Given the description of an element on the screen output the (x, y) to click on. 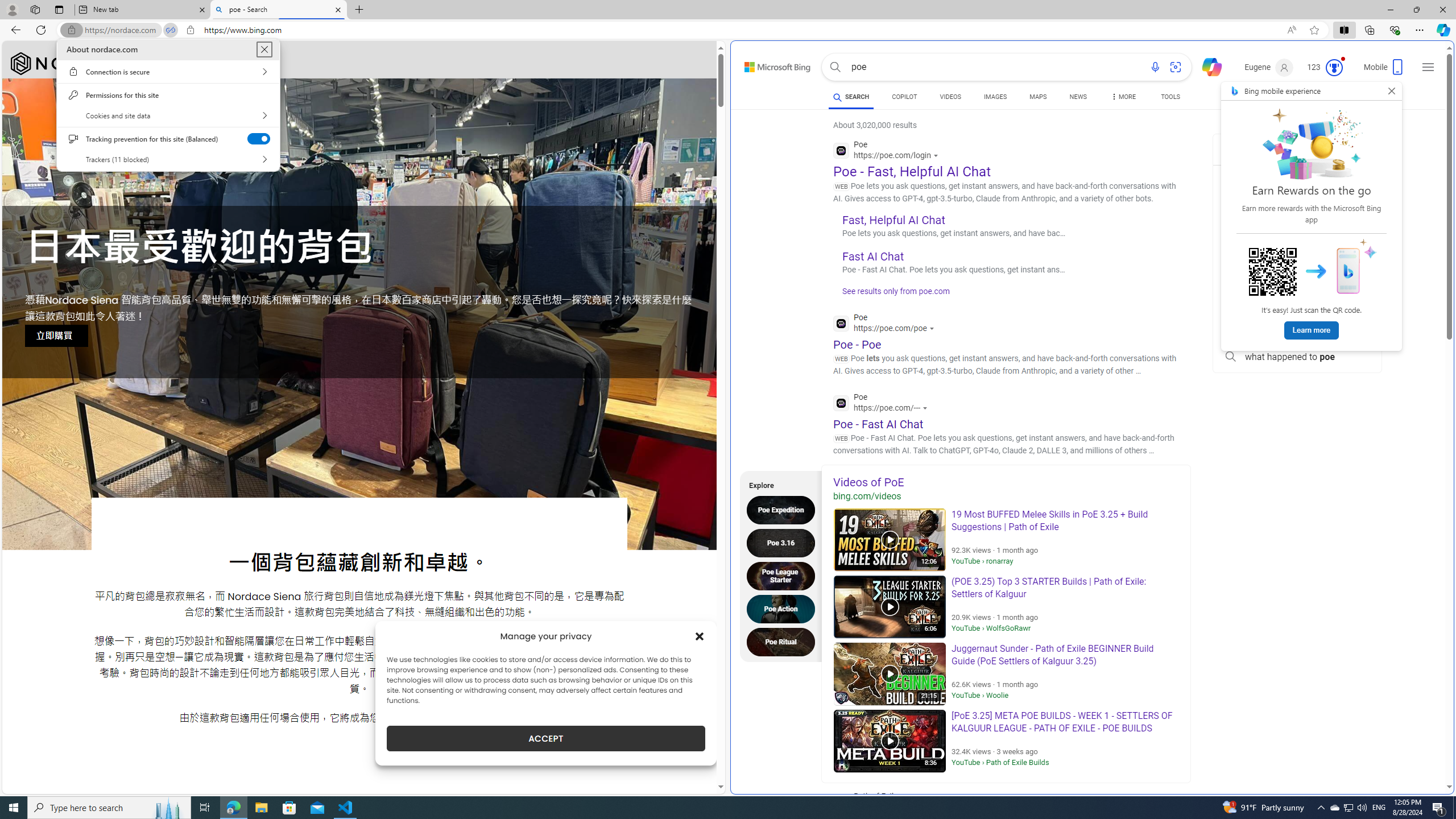
Class: medal-circled (1333, 67)
poe website (1297, 331)
Action Center, 1 new notification (1439, 807)
See results only from poe.com (891, 294)
COPILOT (903, 96)
poe.com login (1297, 305)
Poe Expedition (783, 509)
